Given the description of an element on the screen output the (x, y) to click on. 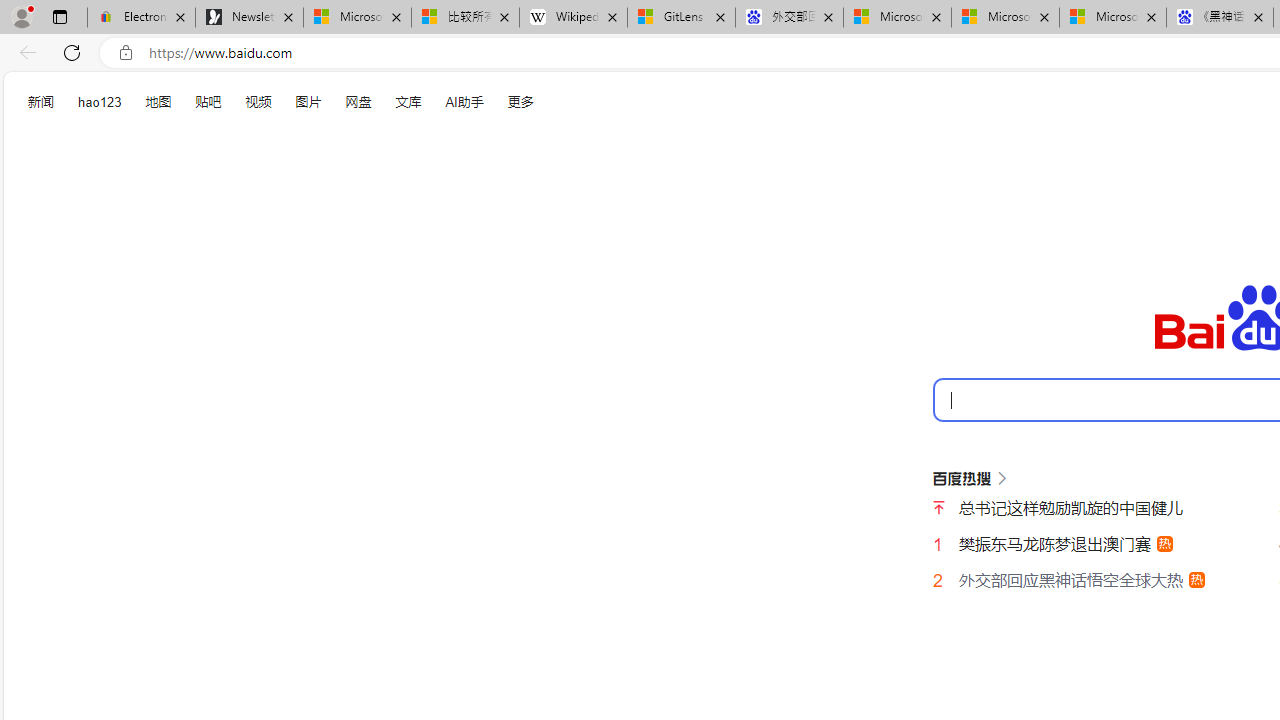
hao123 (99, 101)
